Given the description of an element on the screen output the (x, y) to click on. 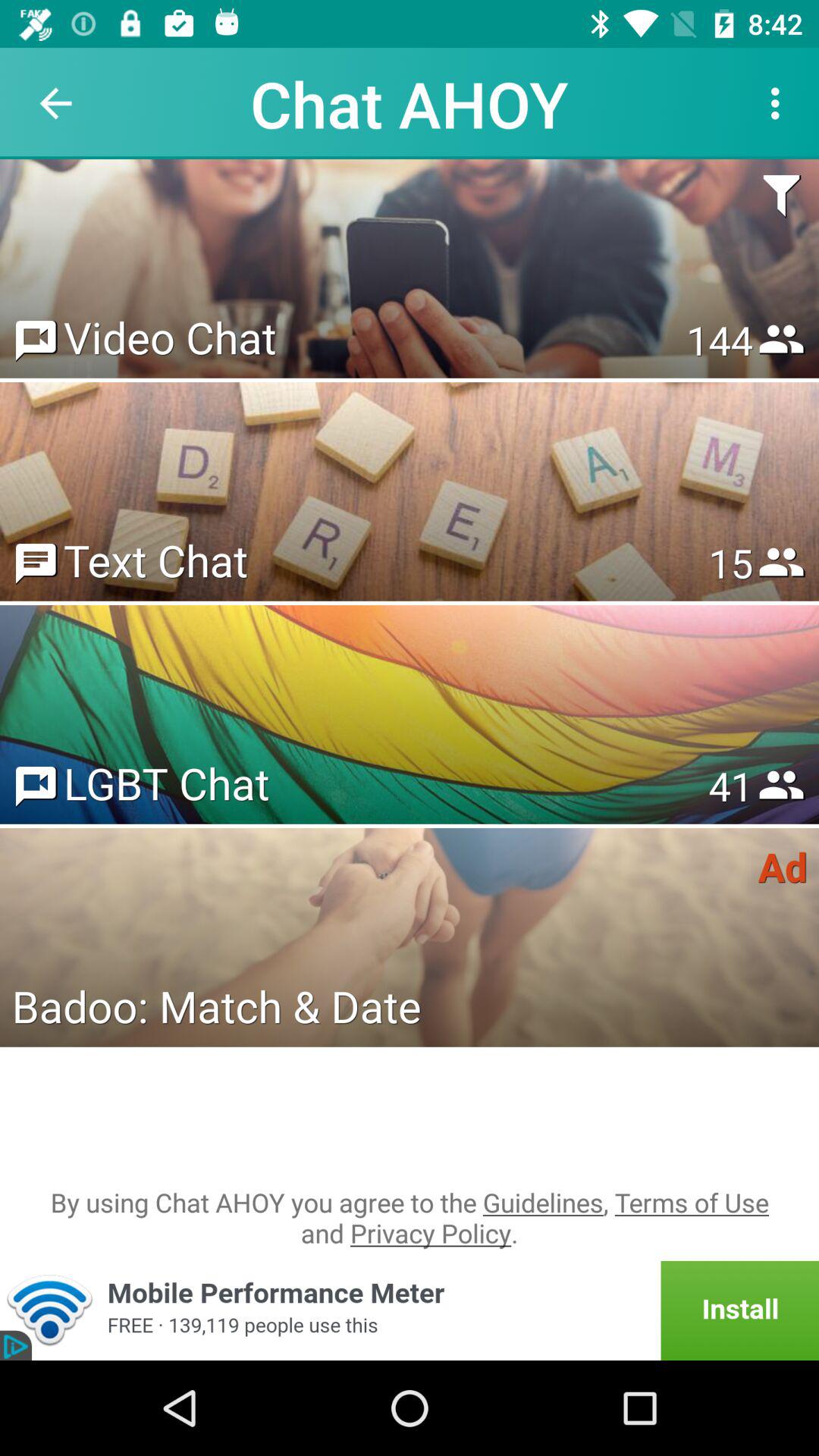
click icon next to the chat ahoy item (779, 103)
